Given the description of an element on the screen output the (x, y) to click on. 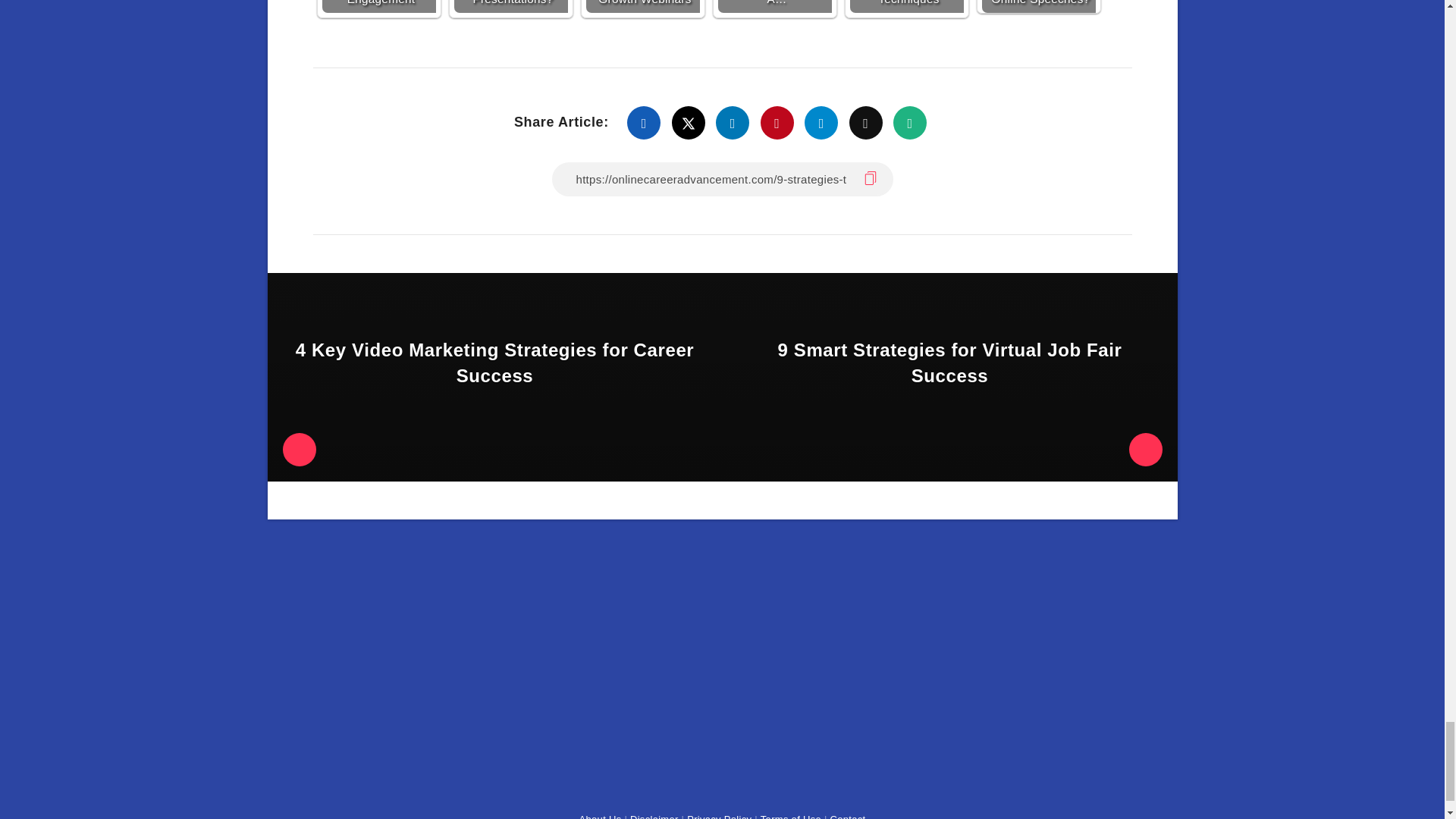
Enhance Online Presentations With Storytelling Techniques (905, 6)
Why Excel in Virtual Presentations? (509, 6)
9 Best Strategies for Impactful Career Growth Webinars (641, 6)
Top Strategies for Successful Webinar Engagement (378, 6)
What Improves Your Vocal Tone for Online Speeches? (1037, 6)
